Given the description of an element on the screen output the (x, y) to click on. 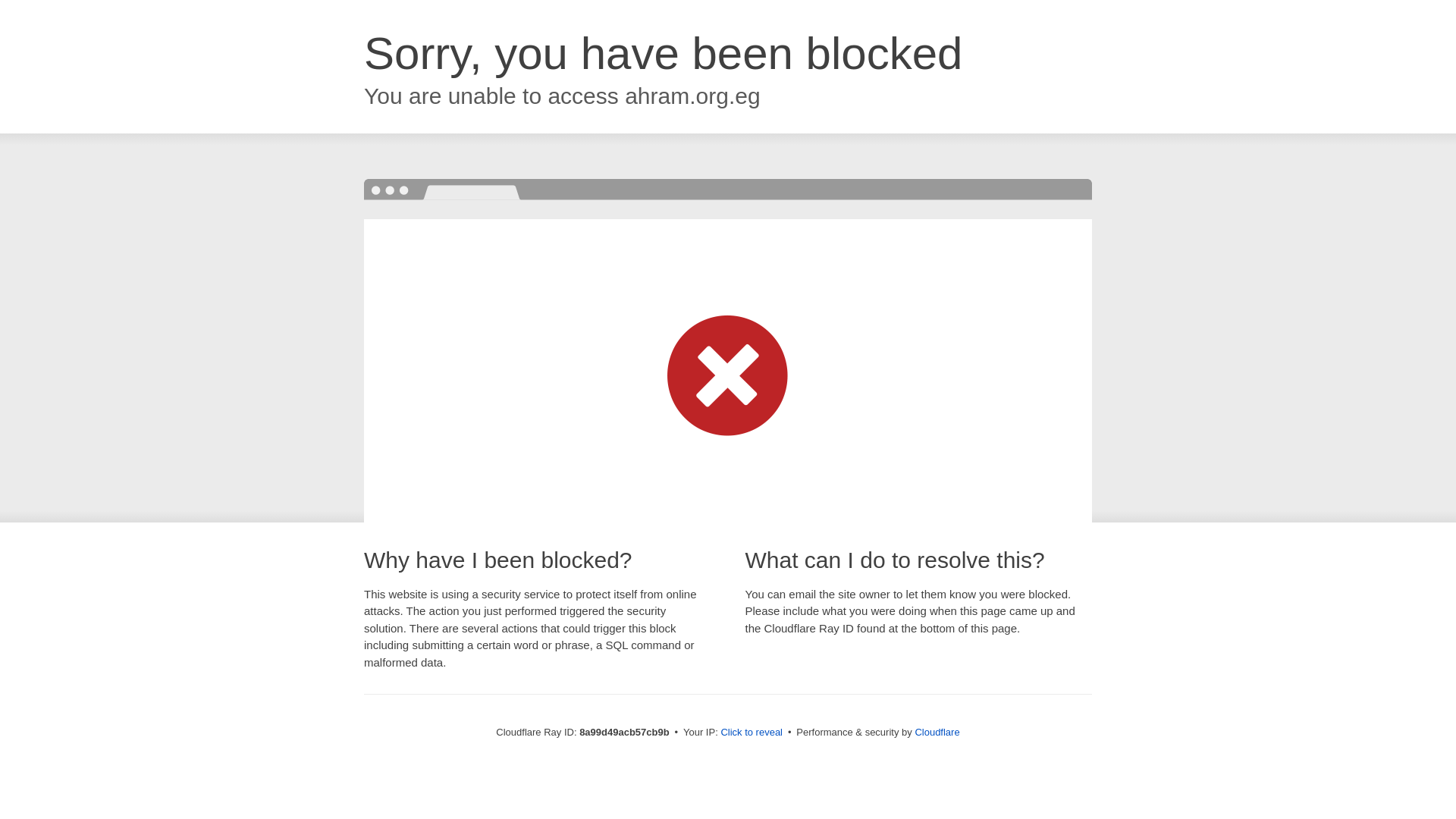
Cloudflare (936, 731)
Click to reveal (751, 732)
